Given the description of an element on the screen output the (x, y) to click on. 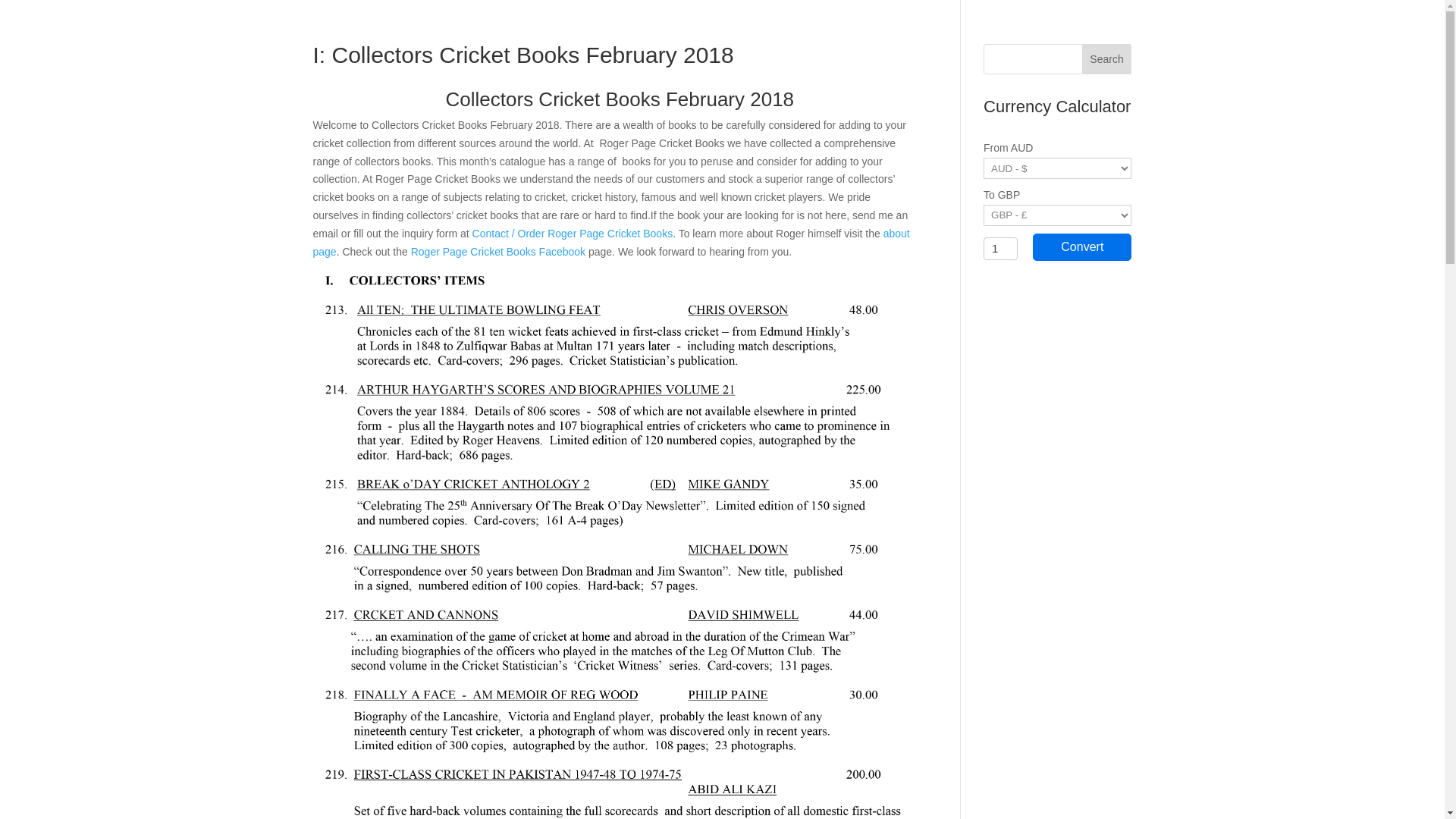
1 (1000, 248)
Search (1106, 59)
